Given the description of an element on the screen output the (x, y) to click on. 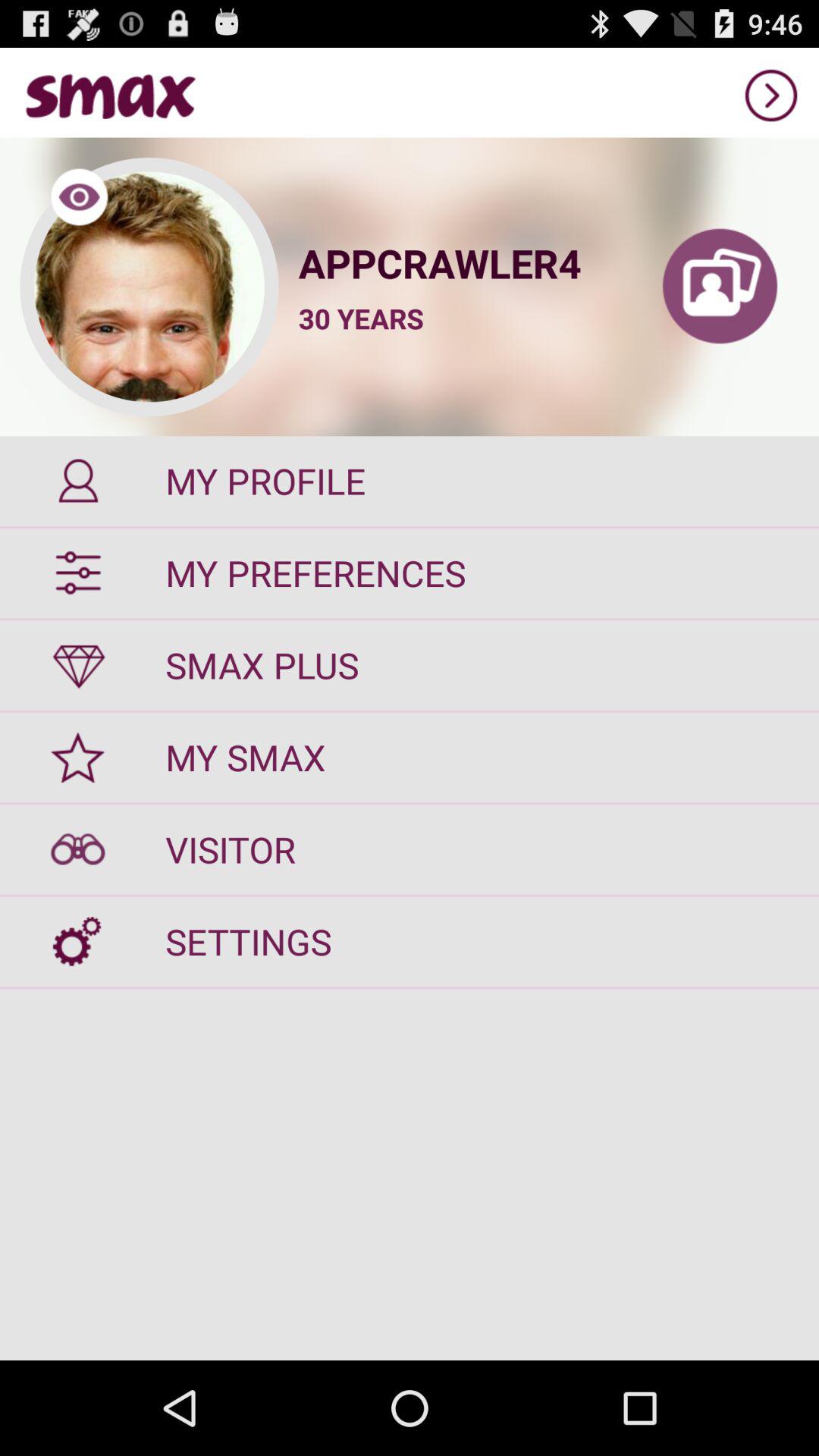
turn on visitor button (409, 849)
